Given the description of an element on the screen output the (x, y) to click on. 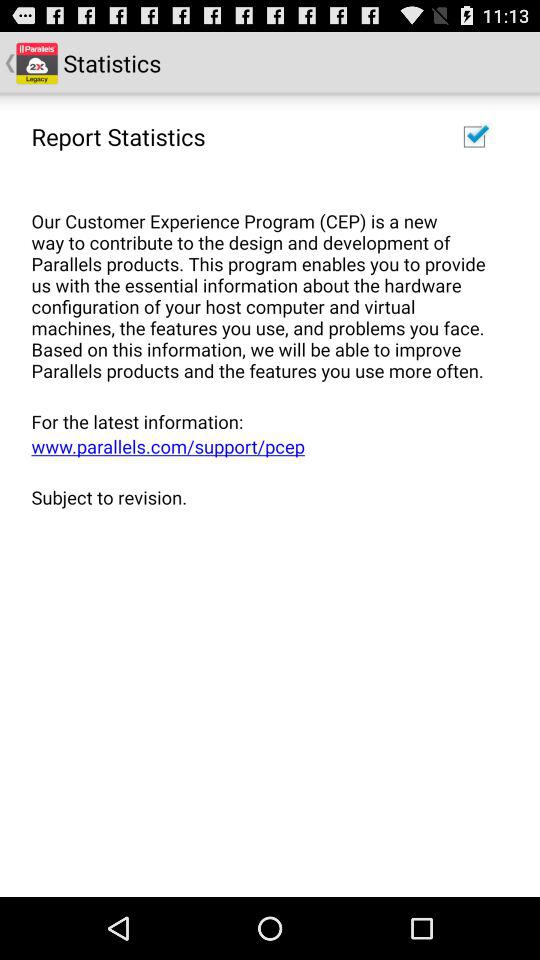
press app at the top (263, 284)
